Given the description of an element on the screen output the (x, y) to click on. 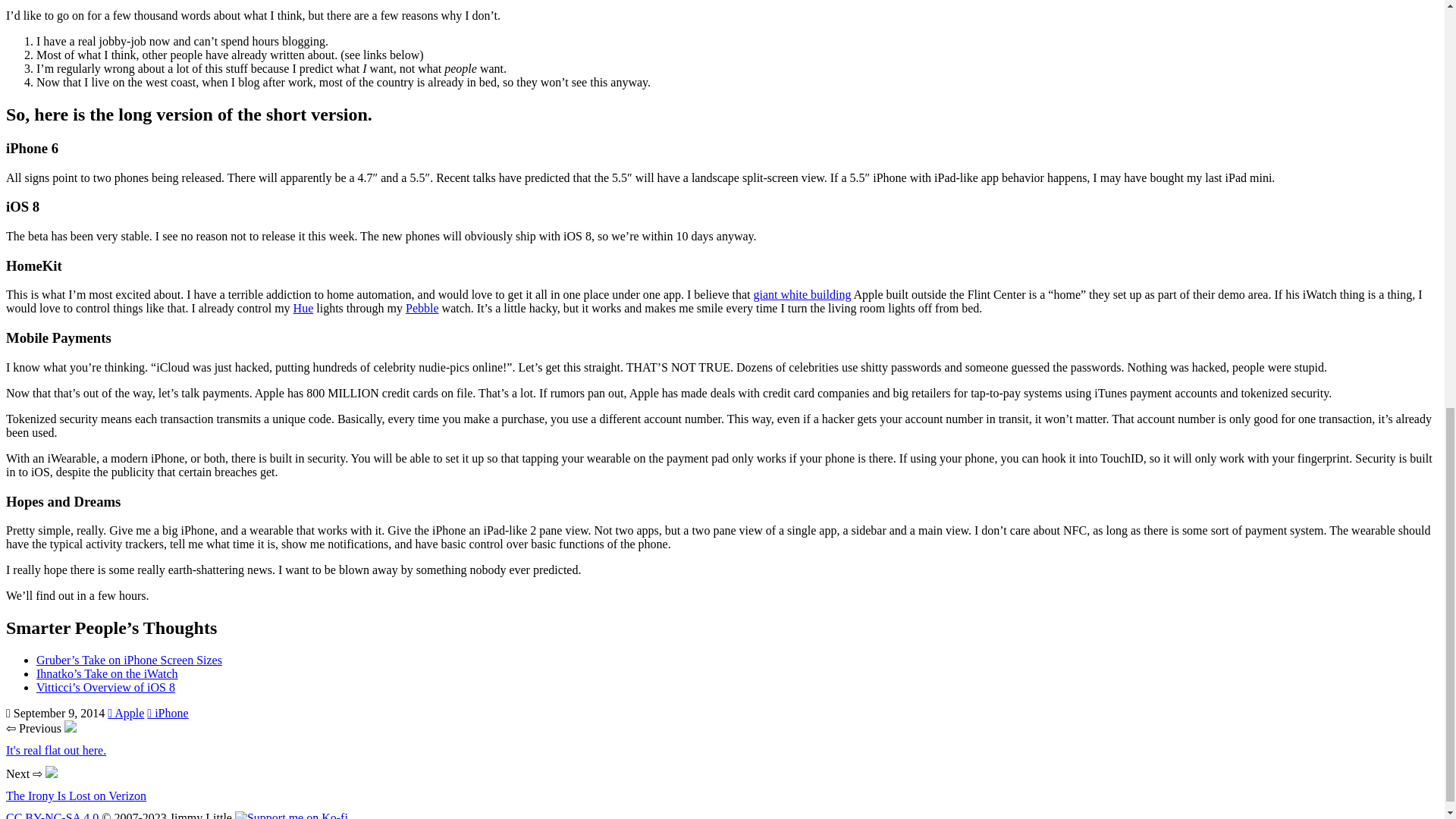
giant white building (802, 294)
Pebble (422, 308)
Hue (304, 308)
